Given the description of an element on the screen output the (x, y) to click on. 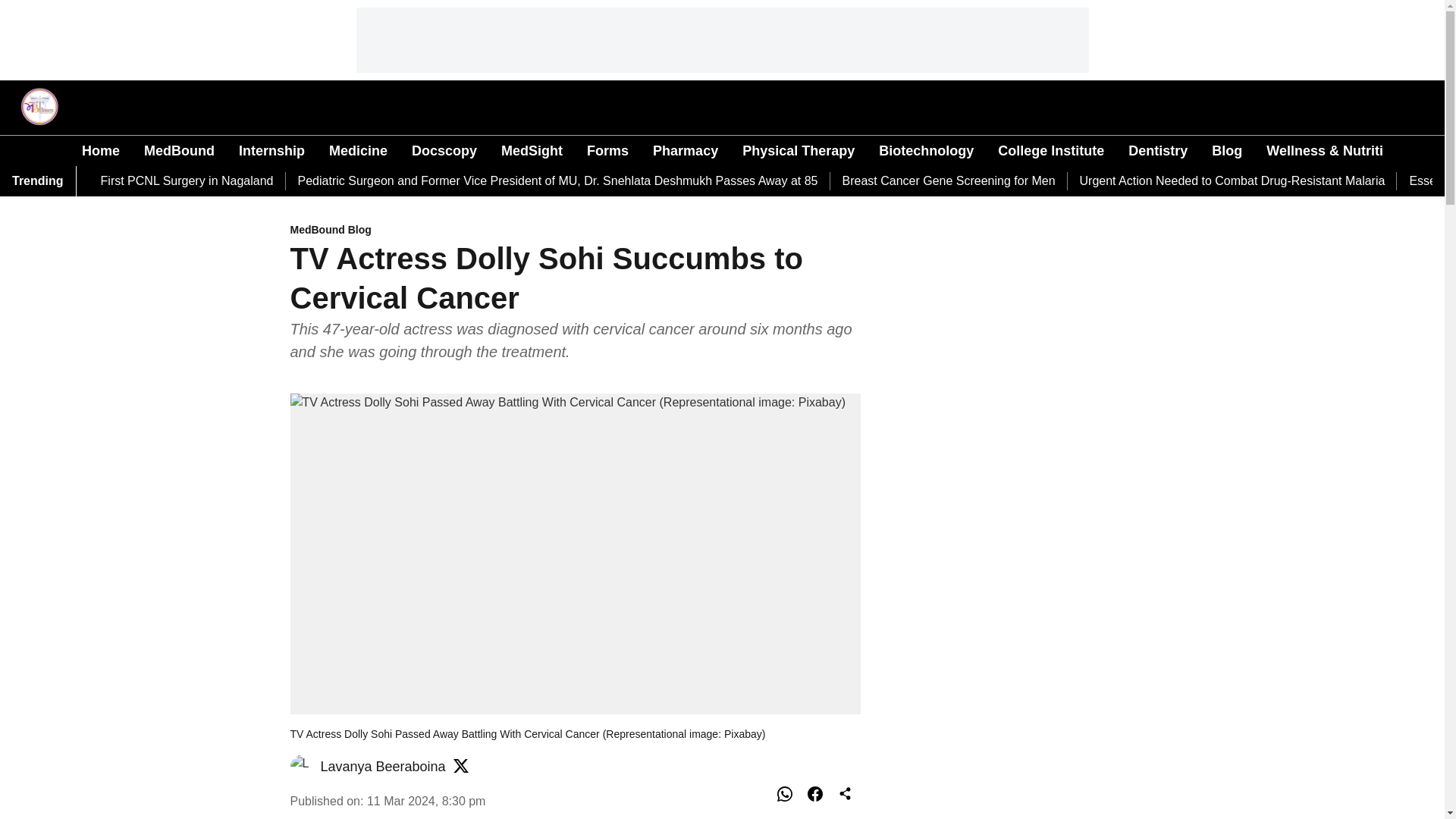
Urgent Action Needed to Combat Drug-Resistant Malaria (1233, 180)
Blog (1226, 150)
MedSight (531, 150)
Dentistry (1158, 150)
Medicine (358, 150)
Home (100, 150)
Forms (607, 150)
Internship (271, 150)
Pharmacy (684, 150)
